Given the description of an element on the screen output the (x, y) to click on. 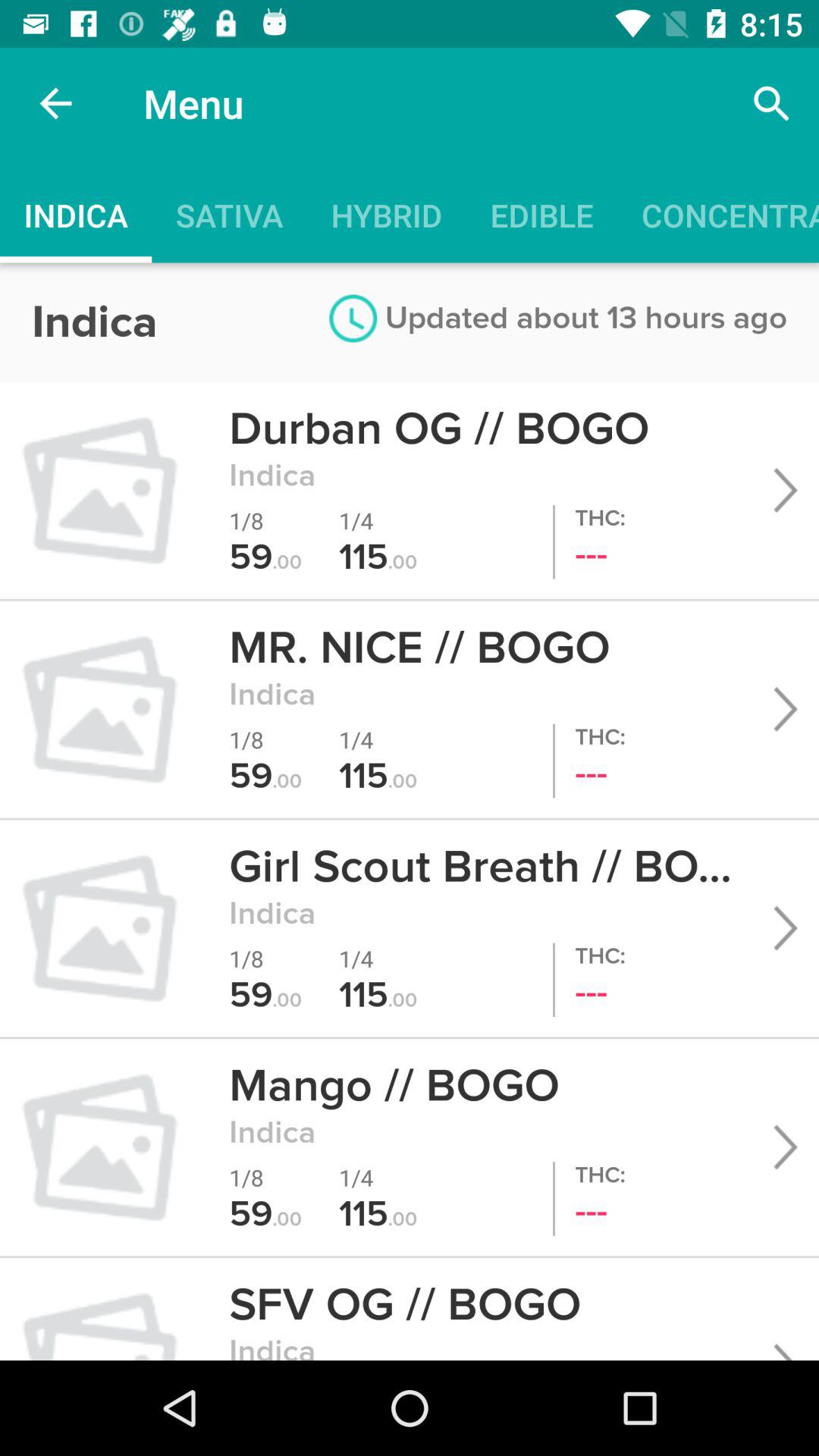
select item next to the menu (55, 103)
